Given the description of an element on the screen output the (x, y) to click on. 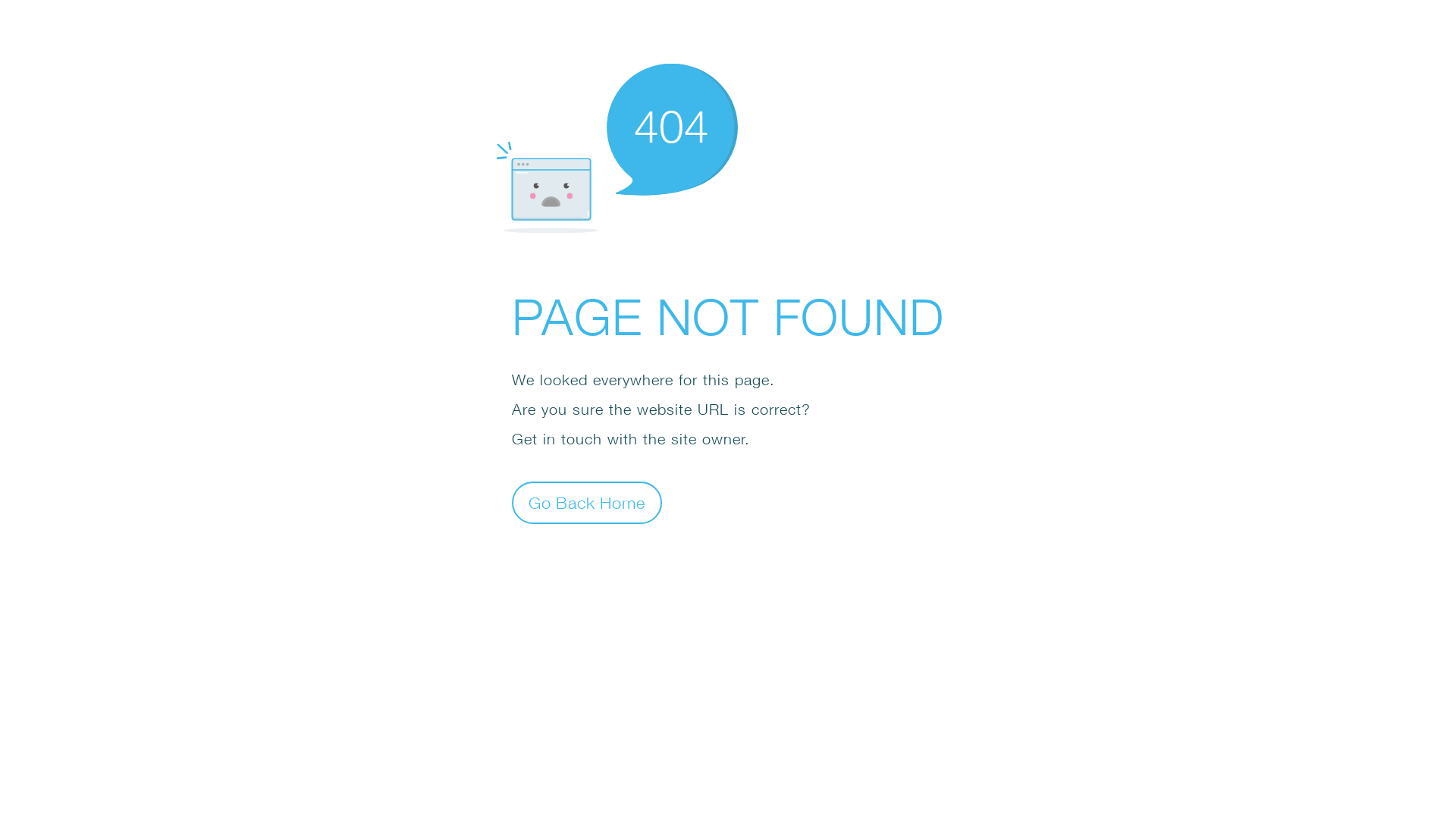
Go Back Home Element type: text (586, 502)
